Given the description of an element on the screen output the (x, y) to click on. 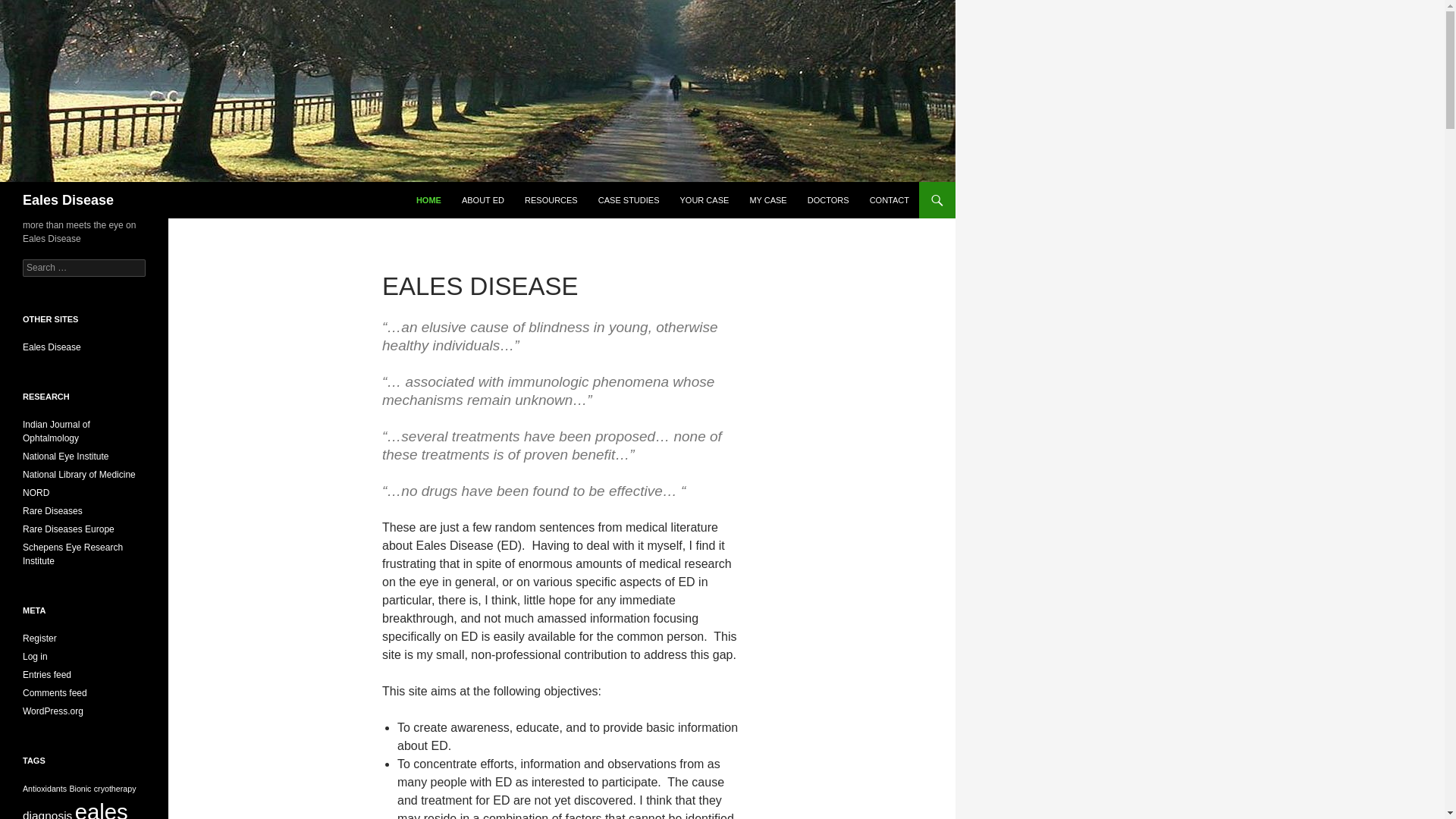
RESOURCES (550, 199)
YOUR CASE (704, 199)
Eales Disease (68, 199)
CASE STUDIES (628, 199)
CONTACT (889, 199)
DOCTORS (828, 199)
MY CASE (766, 199)
HOME (428, 199)
ABOUT ED (482, 199)
